Given the description of an element on the screen output the (x, y) to click on. 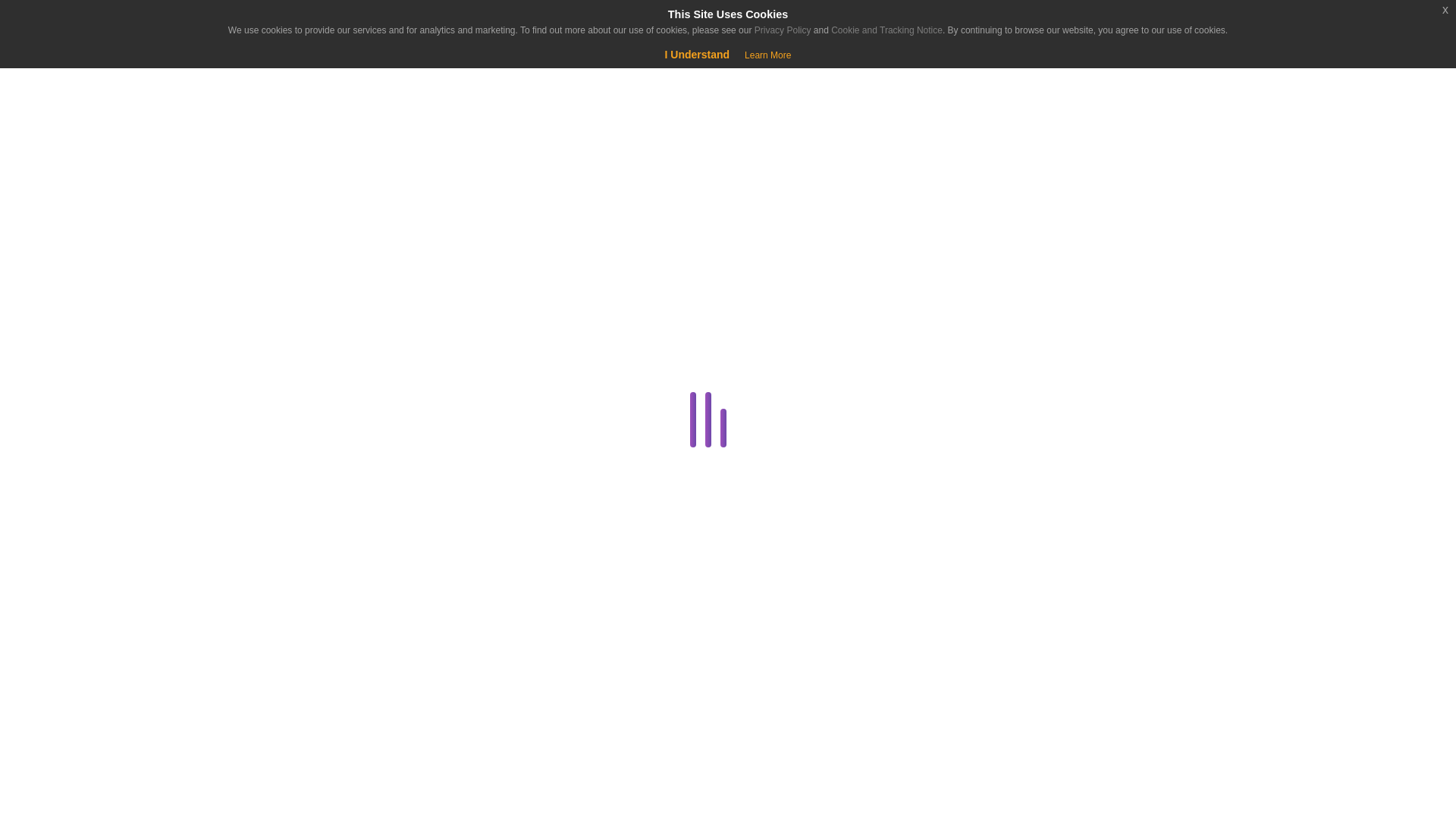
Domains API (283, 567)
Linux Administration (281, 750)
Home (94, 138)
Hosting Dashboard (281, 713)
Billing (281, 349)
Email (281, 604)
Video Tutorials (281, 816)
Software (281, 786)
Affiliates (283, 312)
Domains and DNS (281, 531)
cPanel (281, 422)
Colocation Guides (283, 385)
Store (94, 176)
Databases (281, 458)
Shopping Cart (59, 76)
